Given the description of an element on the screen output the (x, y) to click on. 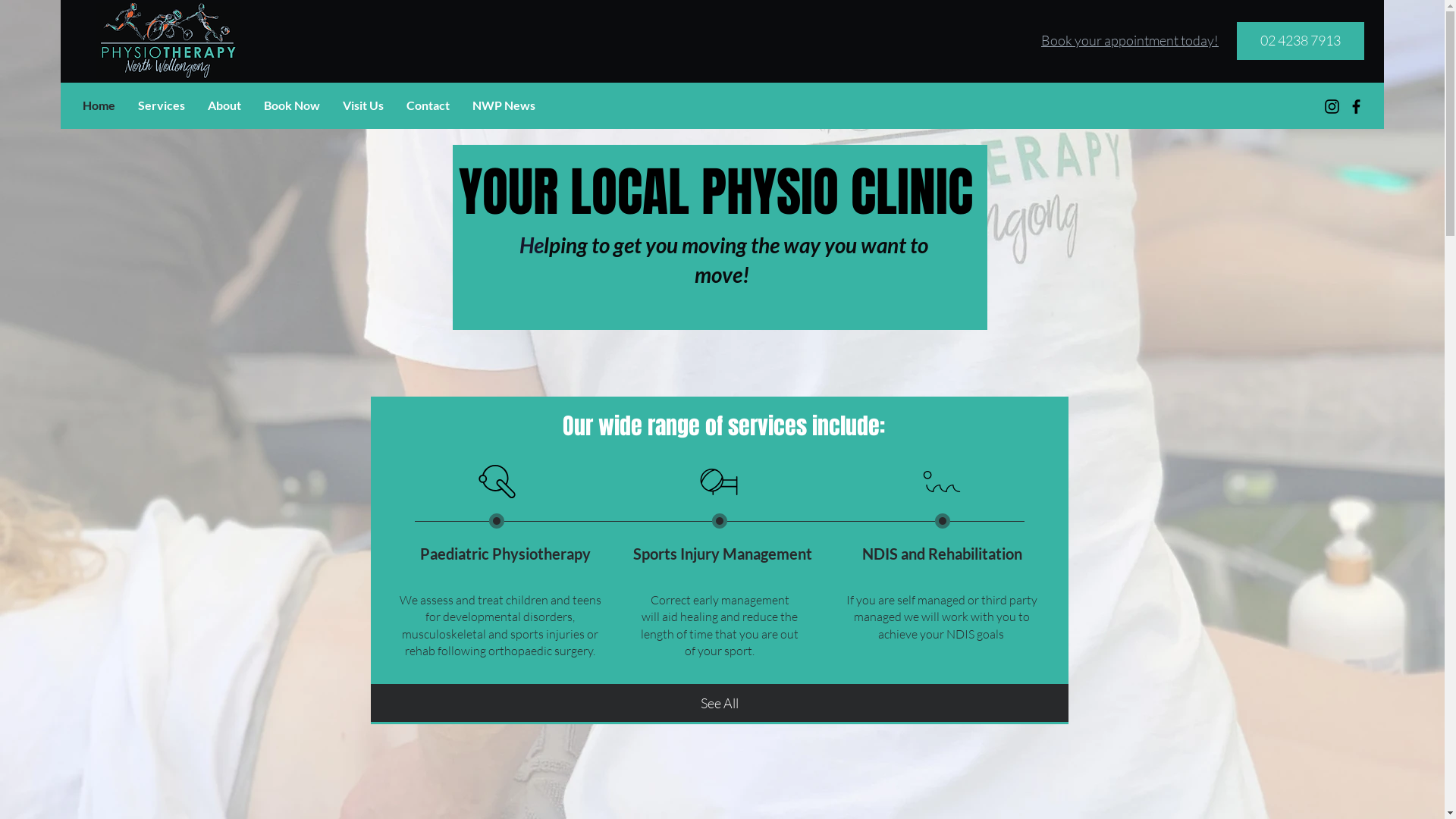
Book Now Element type: text (291, 105)
NWP News Element type: text (503, 105)
Book your appointment today! Element type: text (1129, 39)
Paediatric Physiotherapy Element type: text (505, 553)
Services Element type: text (161, 105)
Visit Us Element type: text (363, 105)
About Element type: text (224, 105)
Home Element type: text (98, 105)
See All Element type: text (718, 702)
NDIS and Rehabilitation Element type: text (941, 553)
Contact Element type: text (428, 105)
Sports Injury Management Element type: text (722, 553)
02 4238 7913 Element type: text (1300, 40)
